Given the description of an element on the screen output the (x, y) to click on. 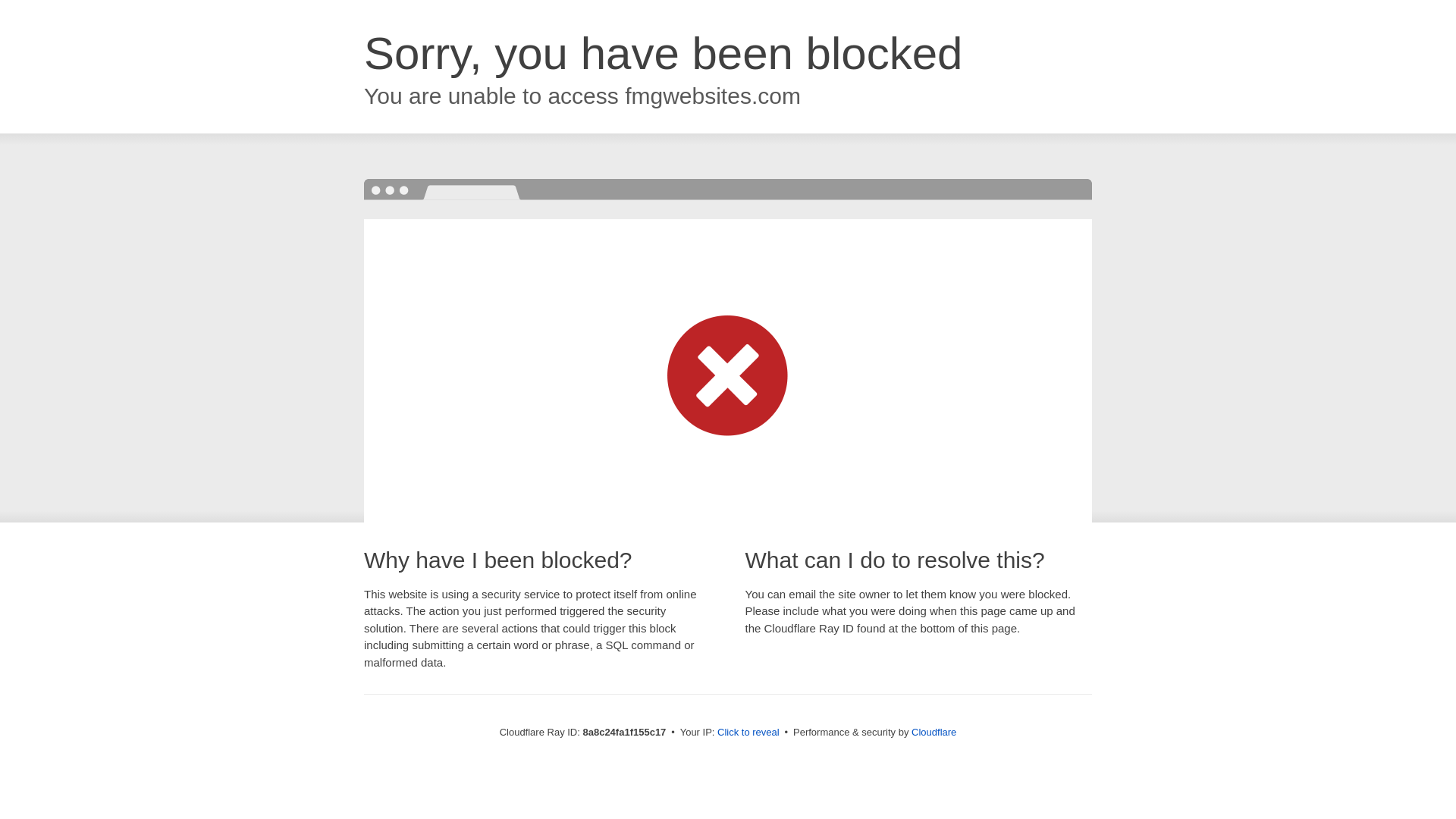
Click to reveal (747, 732)
Cloudflare (933, 731)
